Given the description of an element on the screen output the (x, y) to click on. 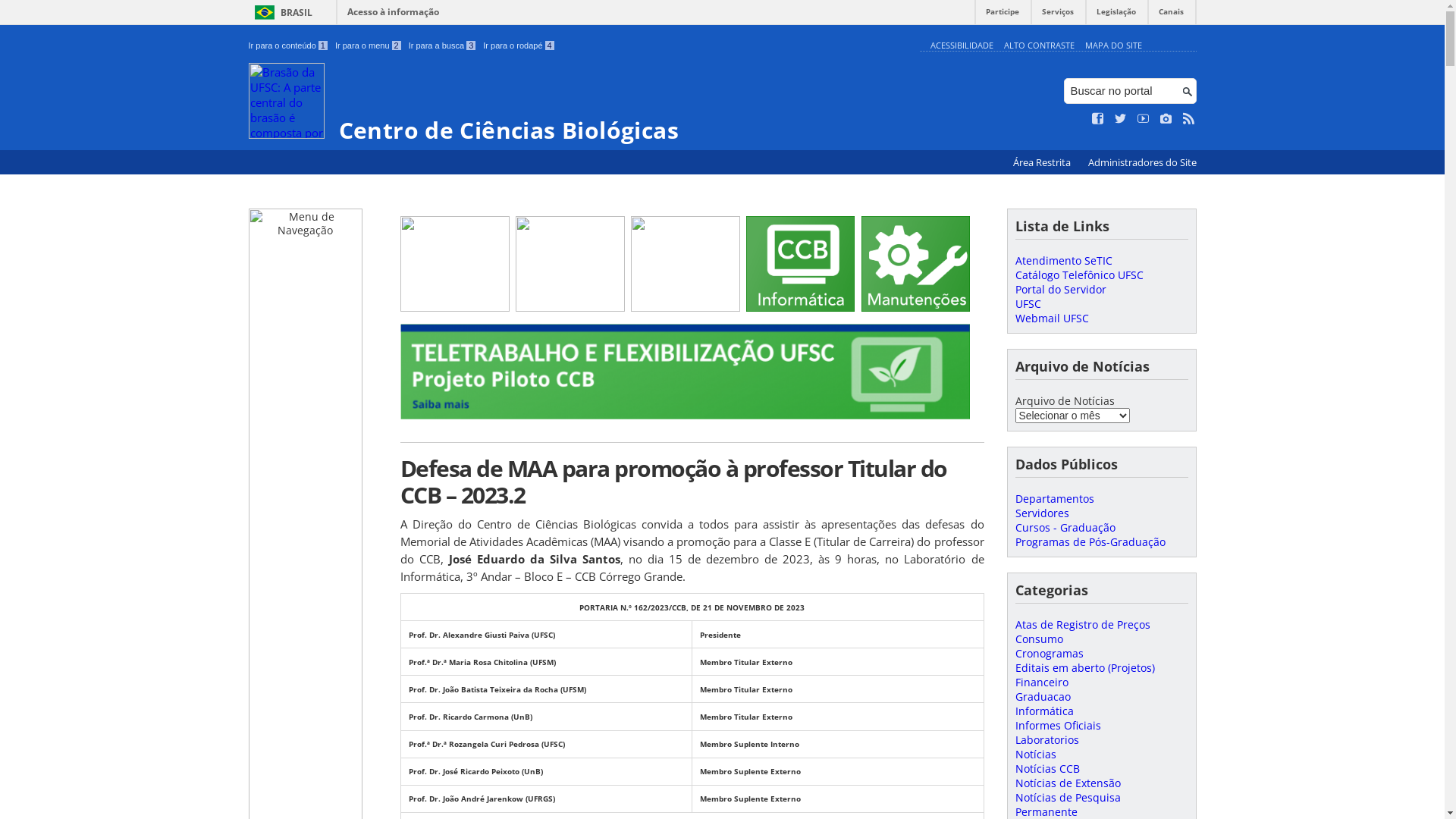
Departamentos Element type: text (1053, 498)
Ir para a busca 3 Element type: text (442, 45)
Participe Element type: text (1002, 15)
Curta no Facebook Element type: hover (1098, 118)
MAPA DO SITE Element type: text (1112, 44)
ACESSIBILIDADE Element type: text (960, 44)
Laboratorios Element type: text (1046, 739)
Ir para o menu 2 Element type: text (368, 45)
BRASIL Element type: text (280, 12)
Financeiro Element type: text (1040, 681)
UFSC Element type: text (1027, 303)
Editais em aberto (Projetos) Element type: text (1084, 667)
ALTO CONTRASTE Element type: text (1039, 44)
Canais Element type: text (1171, 15)
Veja no Instagram Element type: hover (1166, 118)
Graduacao Element type: text (1042, 696)
Portal do Servidor Element type: text (1059, 289)
Consumo Element type: text (1038, 638)
Webmail UFSC Element type: text (1051, 317)
Servidores Element type: text (1041, 512)
Atendimento SeTIC Element type: text (1062, 260)
Siga no Twitter Element type: hover (1120, 118)
Informes Oficiais Element type: text (1057, 725)
  Element type: text (741, 306)
Cronogramas Element type: text (1048, 653)
Administradores do Site Element type: text (1141, 162)
